Given the description of an element on the screen output the (x, y) to click on. 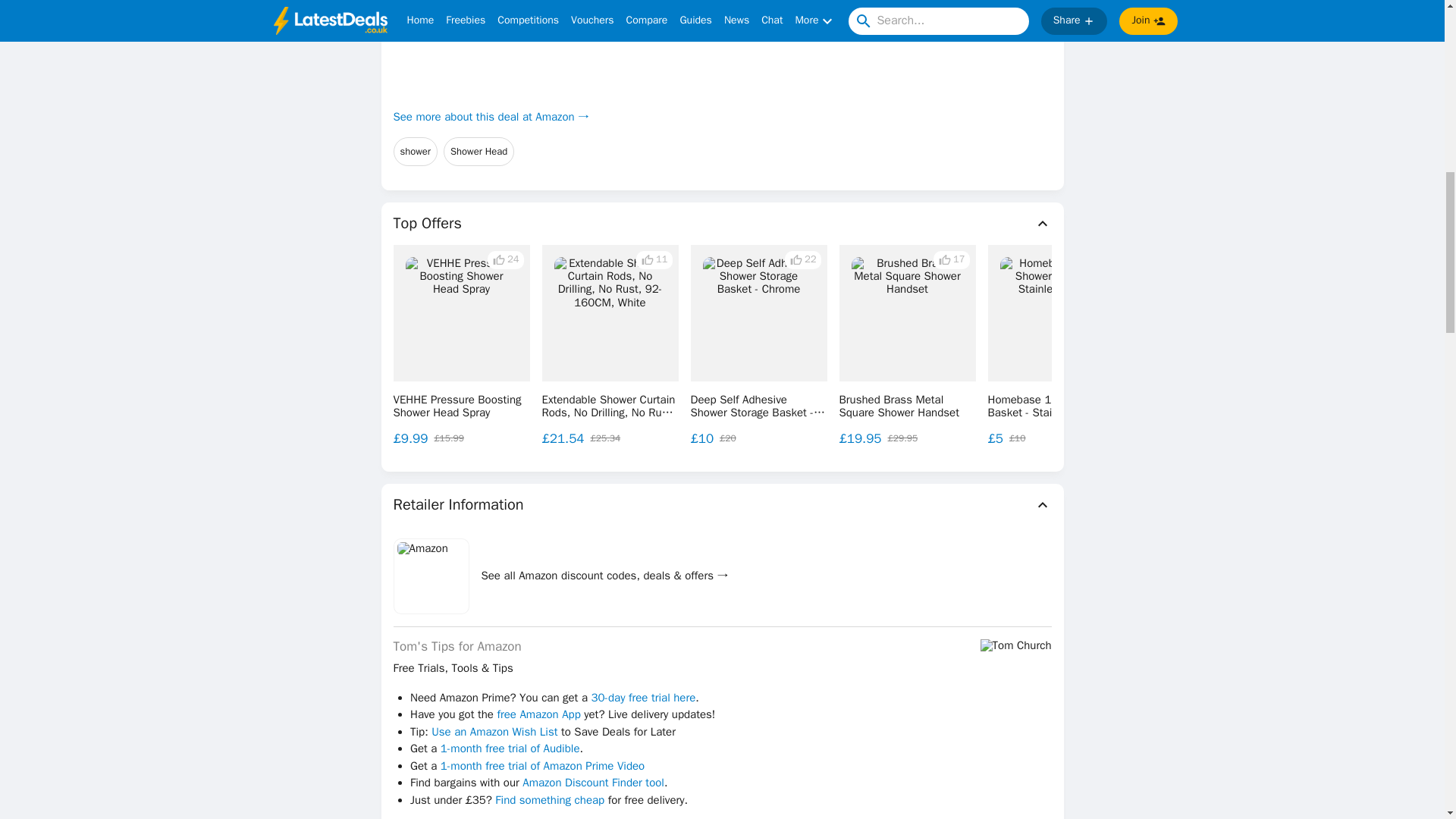
Shower Head (478, 151)
Top Offers (722, 223)
See more offers (1329, 344)
Retailer Information (722, 505)
shower (415, 151)
